Given the description of an element on the screen output the (x, y) to click on. 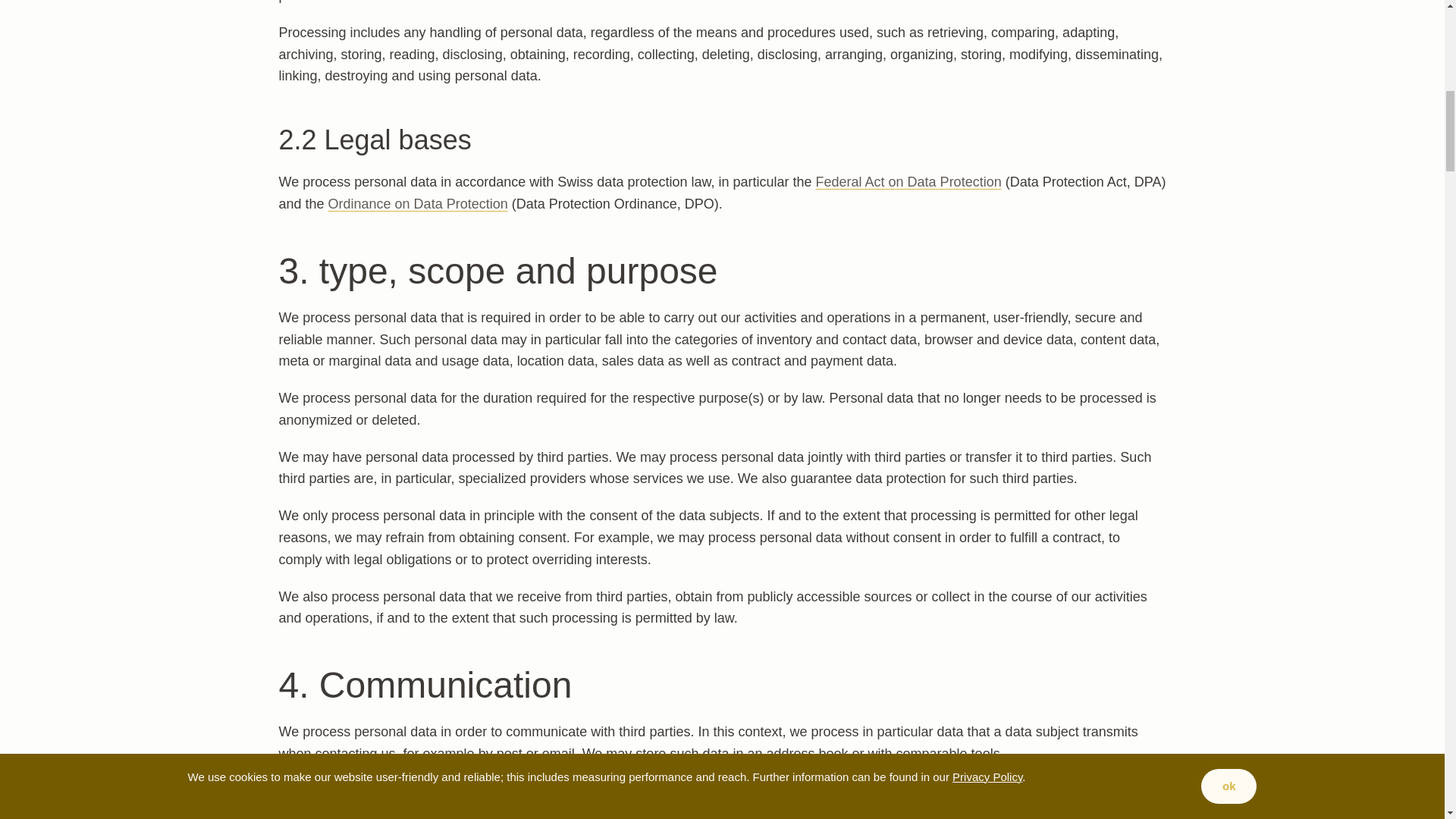
Federal Act on Data Protection (908, 181)
Ordinance on Data Protection (418, 203)
